Given the description of an element on the screen output the (x, y) to click on. 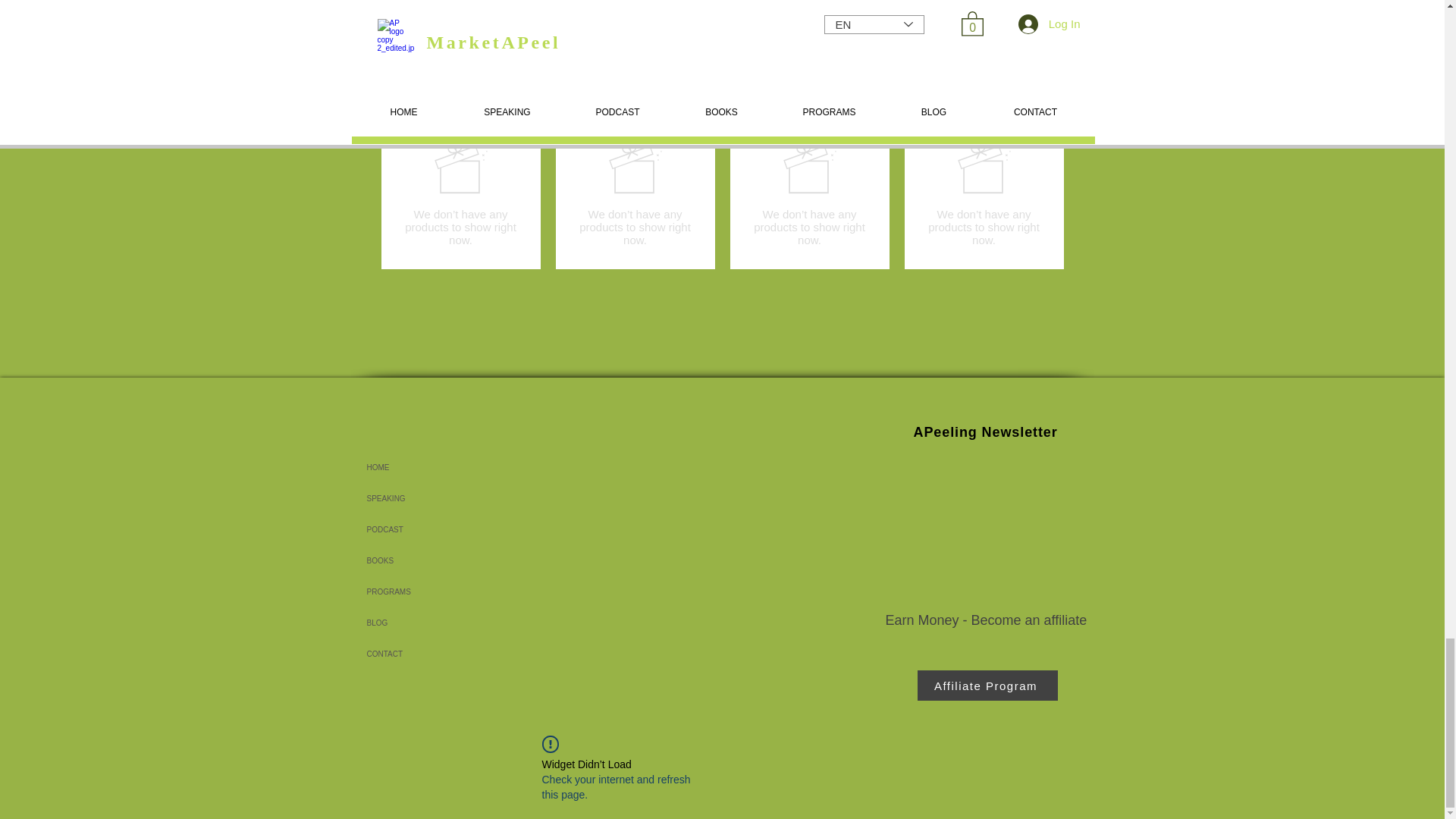
Embedded Content (988, 523)
Embedded Content (597, 28)
